Given the description of an element on the screen output the (x, y) to click on. 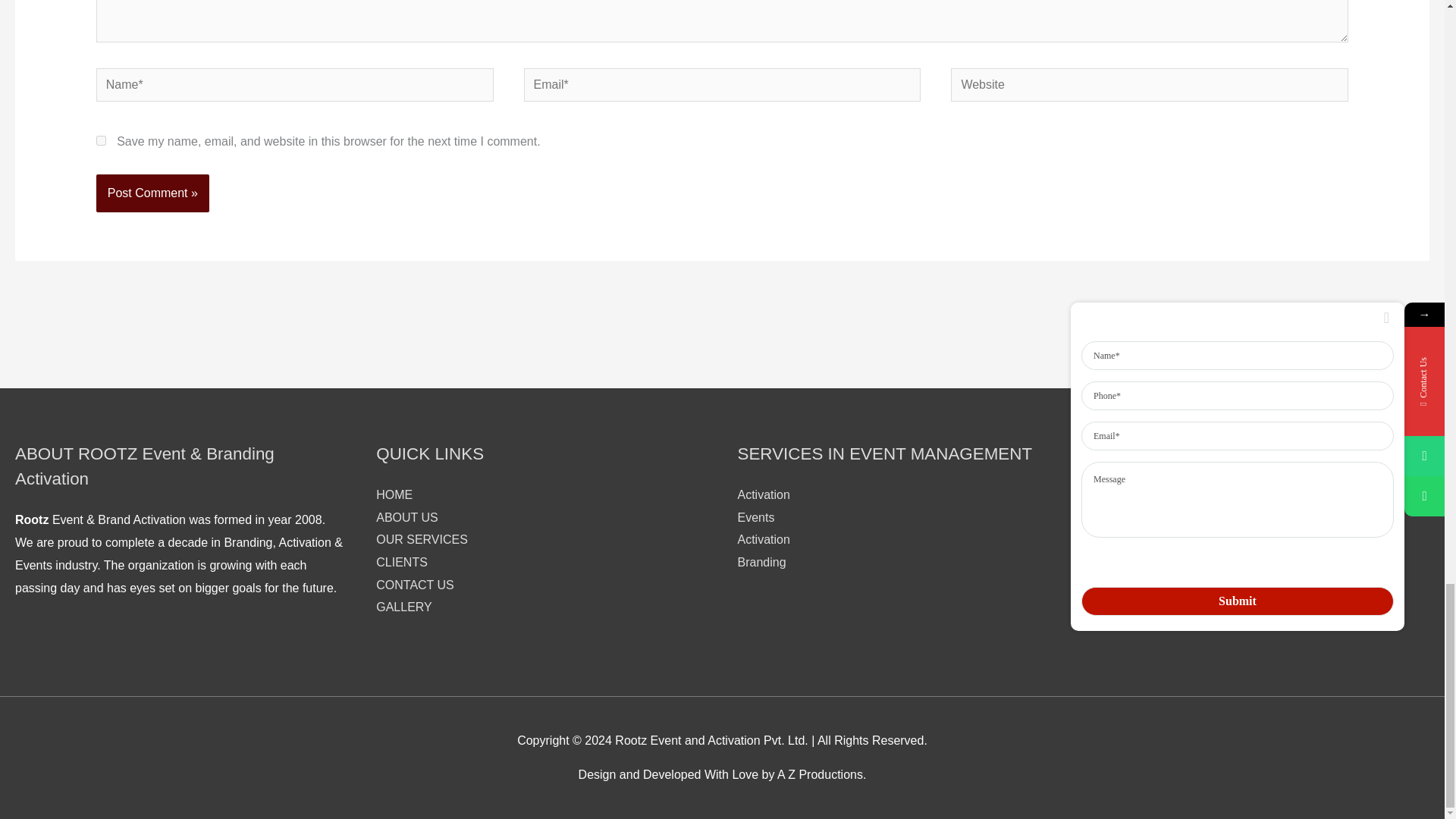
yes (101, 140)
OUR SERVICES (421, 539)
HOME (393, 494)
ABOUT US (406, 517)
